Given the description of an element on the screen output the (x, y) to click on. 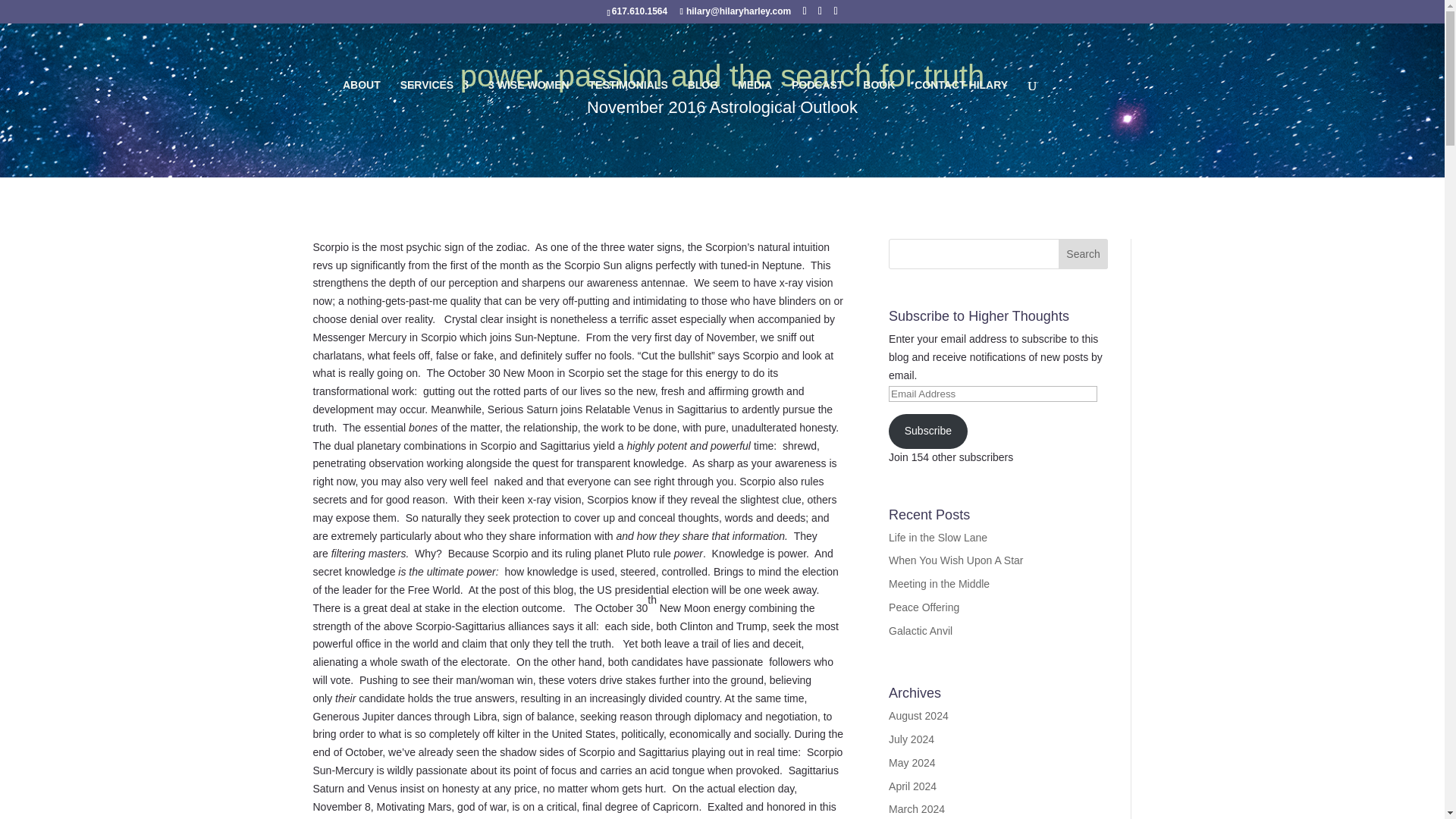
May 2024 (911, 762)
Meeting in the Middle (939, 583)
March 2024 (916, 808)
July 2024 (911, 739)
Subscribe (928, 431)
Search (1083, 254)
August 2024 (918, 715)
Search (1083, 254)
When You Wish Upon A Star (955, 560)
Life in the Slow Lane (937, 537)
